Given the description of an element on the screen output the (x, y) to click on. 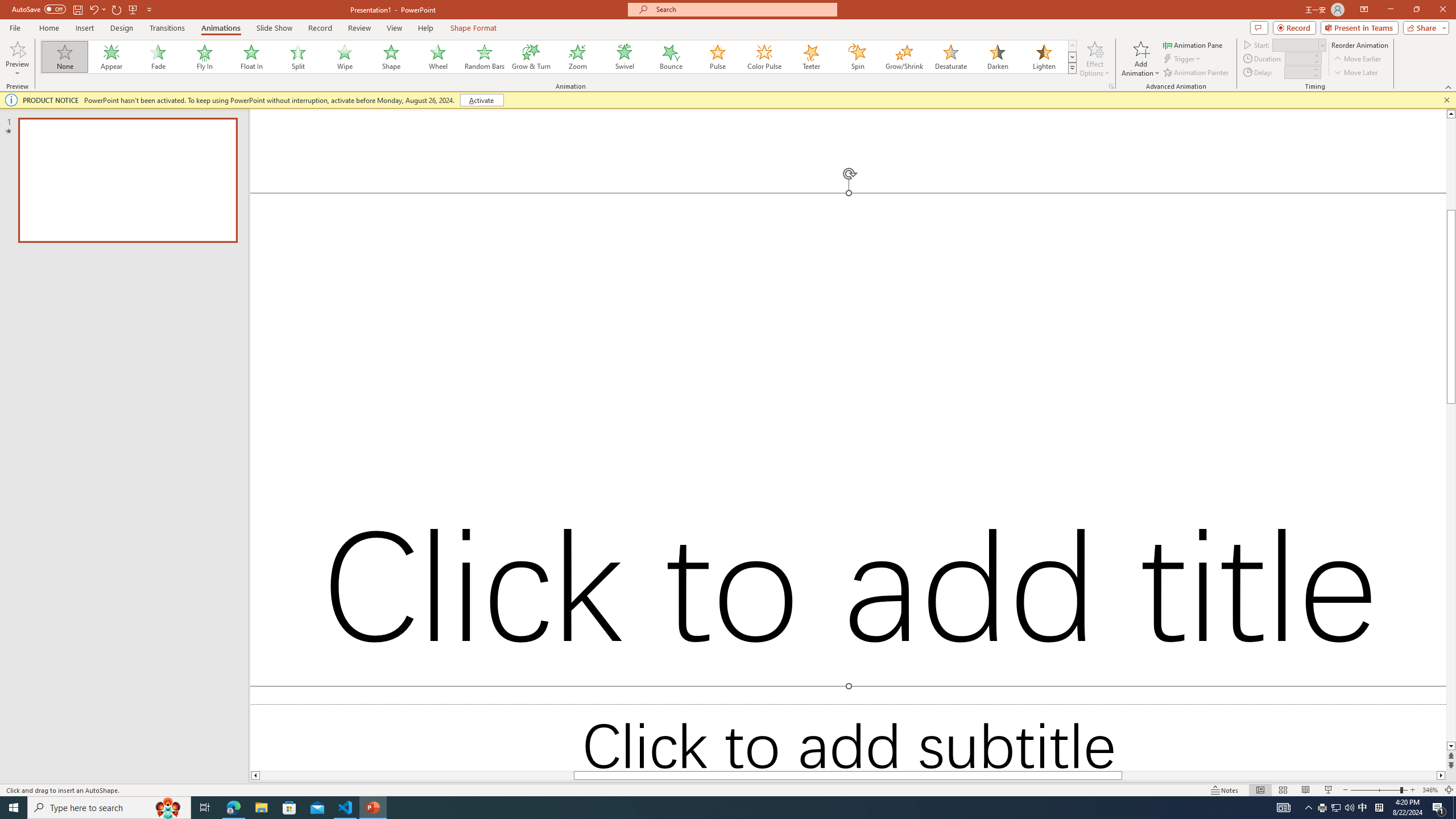
Animation Painter (1196, 72)
Float In (251, 56)
Bounce (670, 56)
Zoom 346% (1430, 790)
Grow/Shrink (903, 56)
Shape (391, 56)
